Given the description of an element on the screen output the (x, y) to click on. 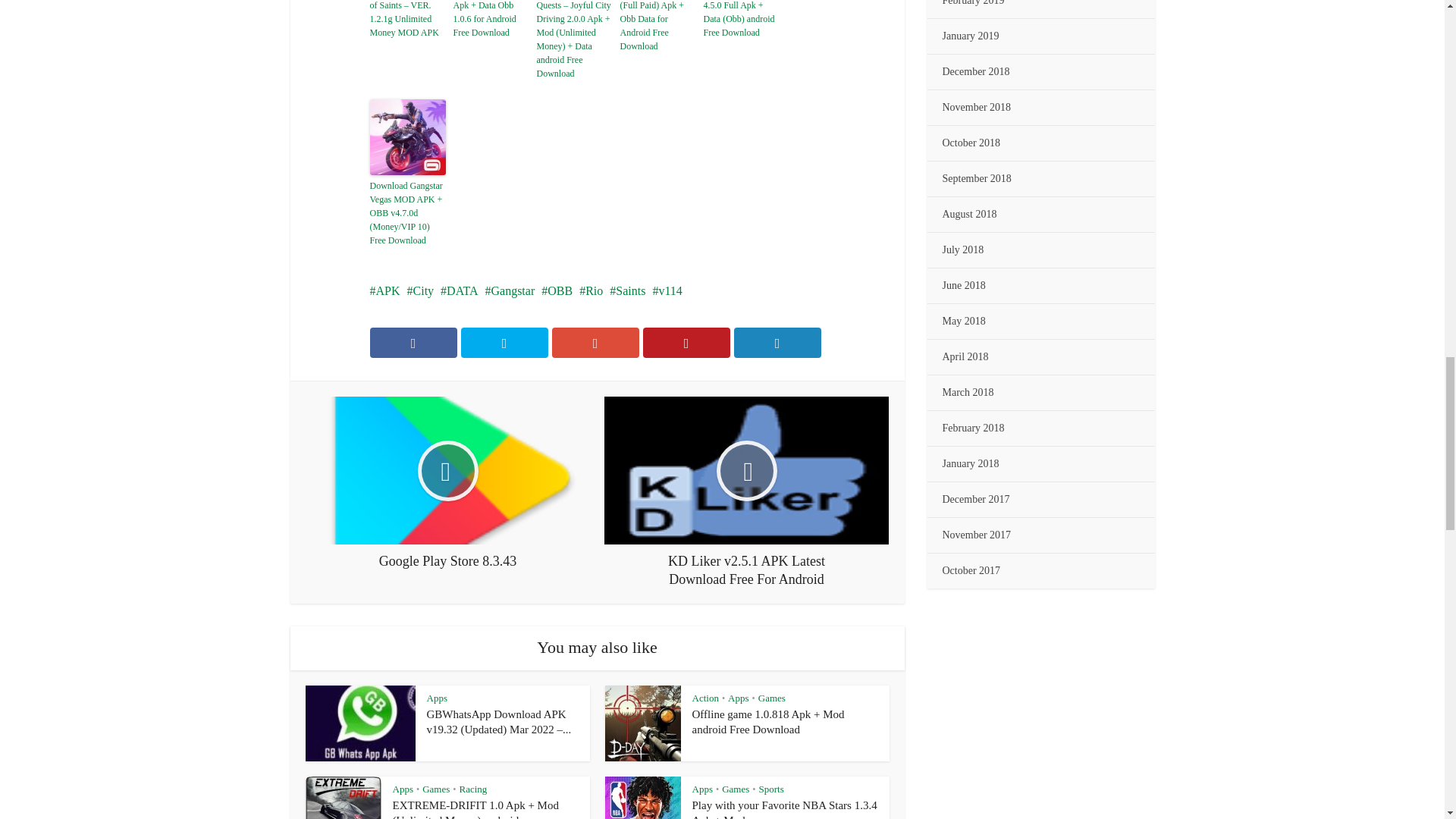
DATA (459, 290)
OBB (556, 290)
City (420, 290)
Gangstar (509, 290)
APK (384, 290)
